Given the description of an element on the screen output the (x, y) to click on. 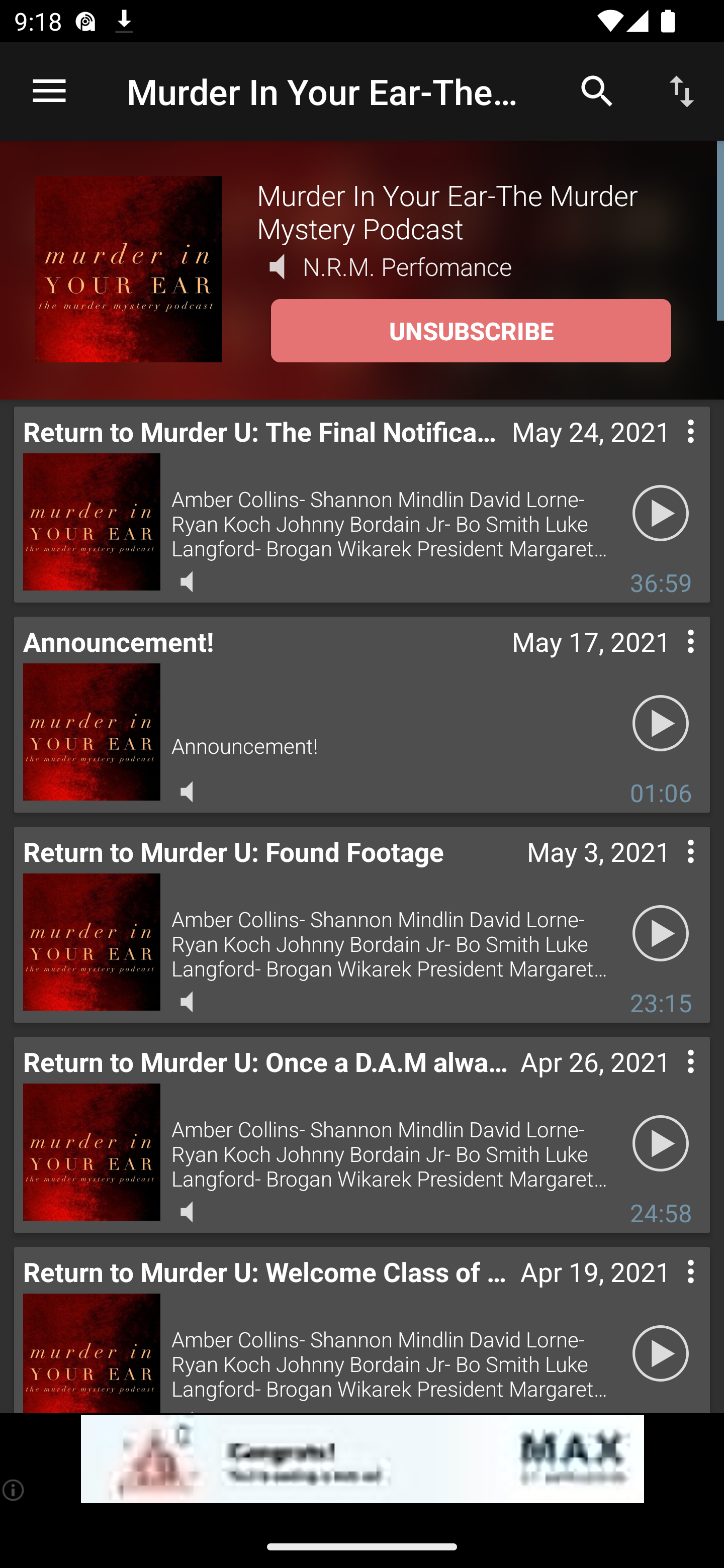
Open navigation sidebar (49, 91)
Search (597, 90)
Sort (681, 90)
UNSUBSCRIBE (470, 330)
Contextual menu (668, 451)
Play (660, 513)
Contextual menu (668, 661)
Play (660, 723)
Contextual menu (668, 870)
Play (660, 933)
Contextual menu (668, 1080)
Play (660, 1143)
Contextual menu (668, 1290)
Play (660, 1353)
app-monetization (362, 1459)
(i) (14, 1489)
